Given the description of an element on the screen output the (x, y) to click on. 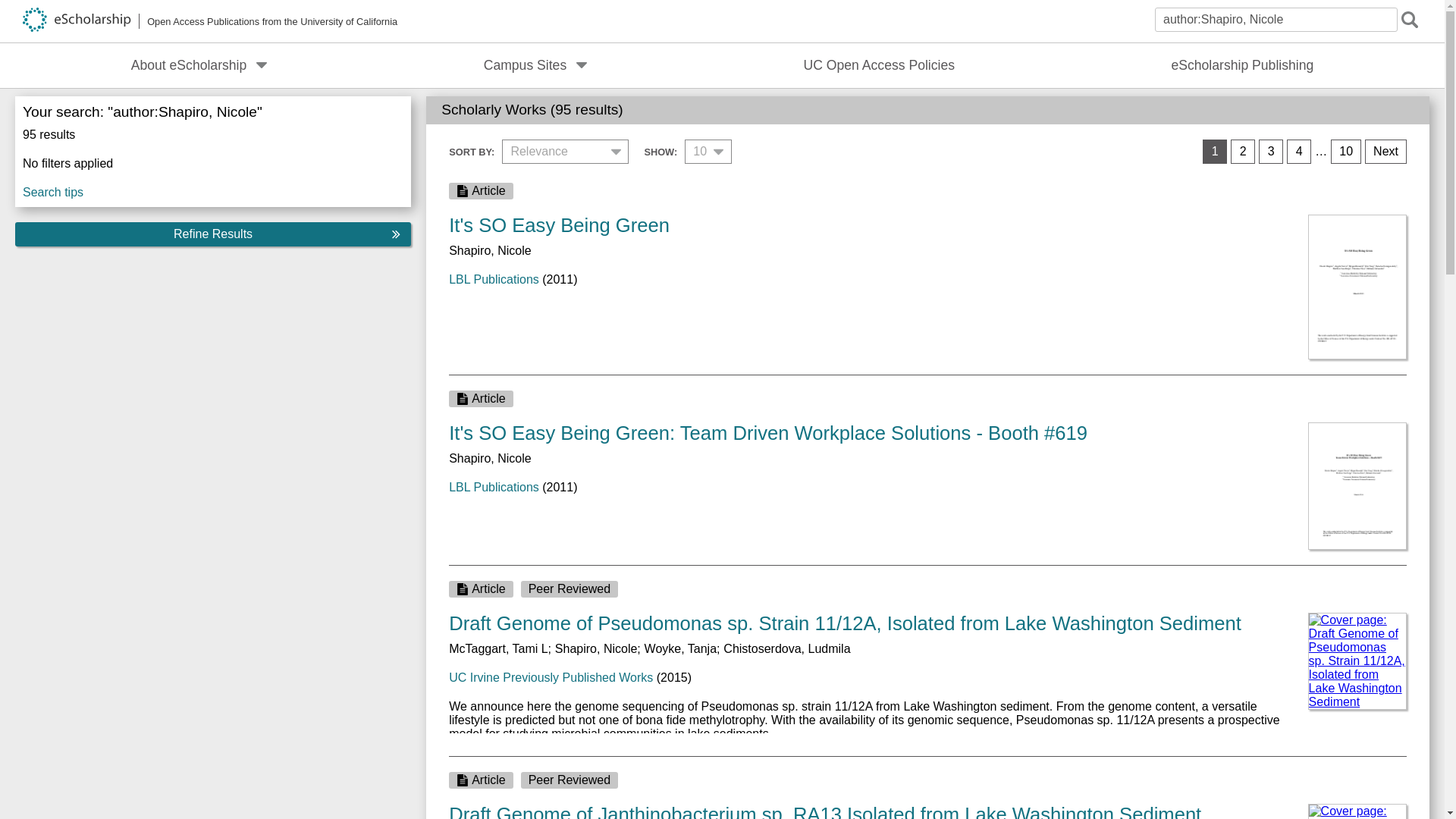
3 (1270, 151)
author:Shapiro, Nicole (1275, 19)
UC Open Access Policies (879, 65)
eScholarship Publishing (1241, 65)
Refine Results (212, 233)
1 (1214, 151)
author:Shapiro, Nicole (1275, 19)
2 (1242, 151)
10 (1345, 151)
Open Access Publications from the University of California (210, 21)
4 (1299, 151)
Search tips (213, 188)
Next (1385, 151)
